Given the description of an element on the screen output the (x, y) to click on. 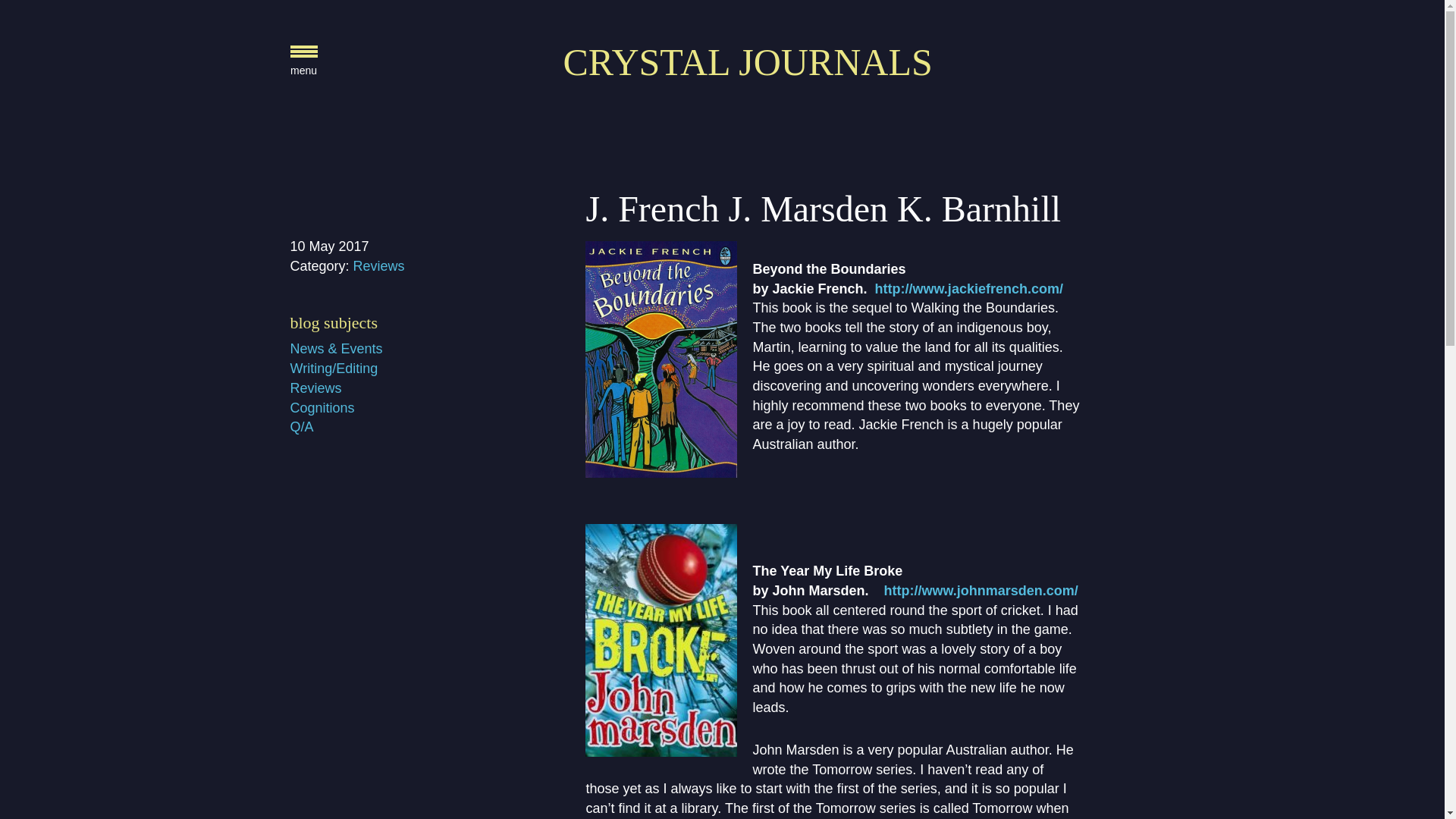
CRYSTAL JOURNALS (746, 61)
Reviews (314, 387)
Cognitions (321, 407)
Reviews (378, 264)
